Given the description of an element on the screen output the (x, y) to click on. 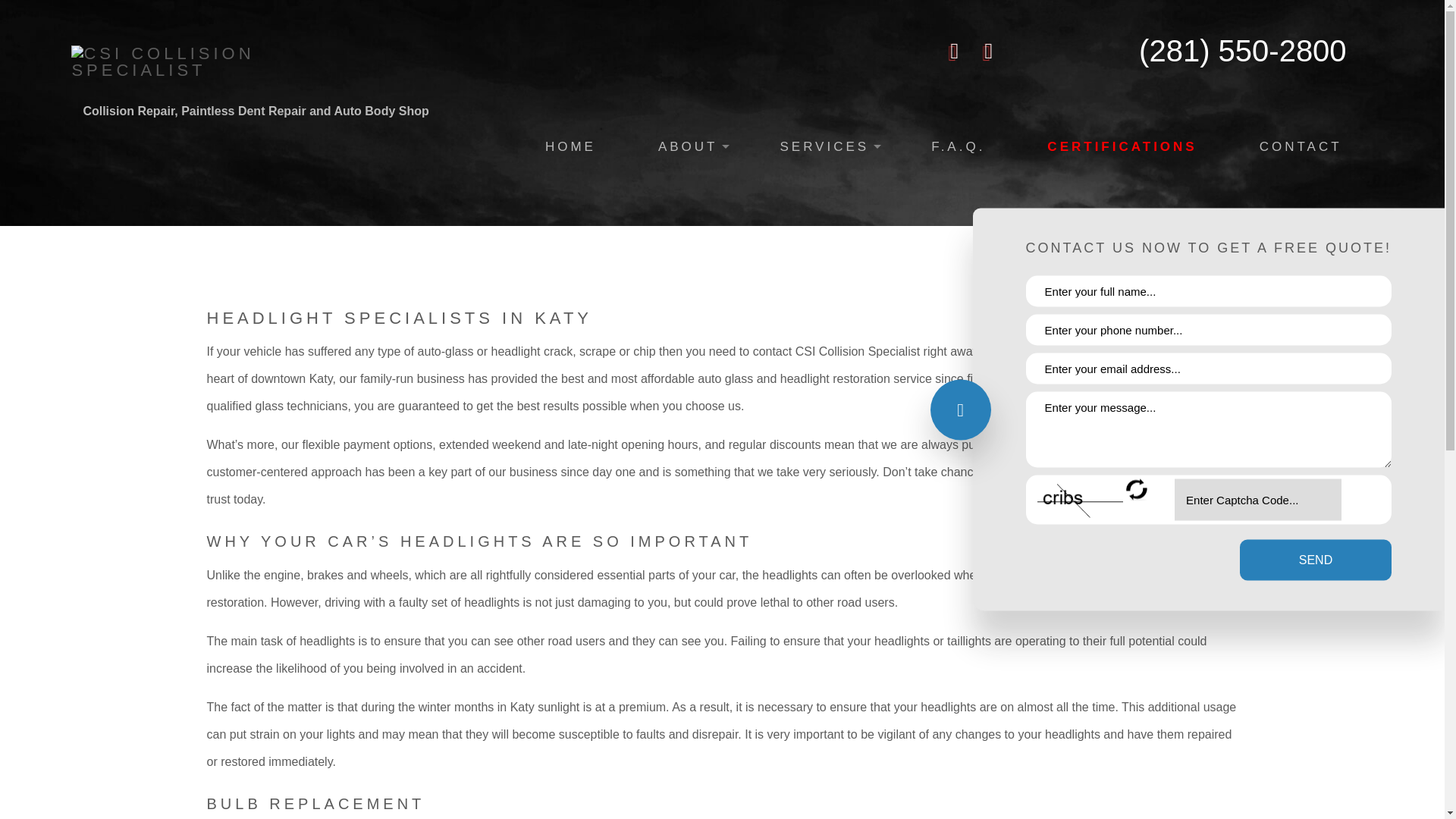
AUTO DETAILING (662, 203)
SOCIAL FEED (525, 203)
Refresh Captcha (1136, 490)
CAR AUDIO (662, 234)
View Google Maps (989, 53)
Connect to Facebook (955, 53)
SERVICES (824, 146)
BODY WORK AND PAINT DETAILS (985, 203)
FLEET WORK (985, 234)
ABOUT (687, 146)
HOME (570, 146)
